Given the description of an element on the screen output the (x, y) to click on. 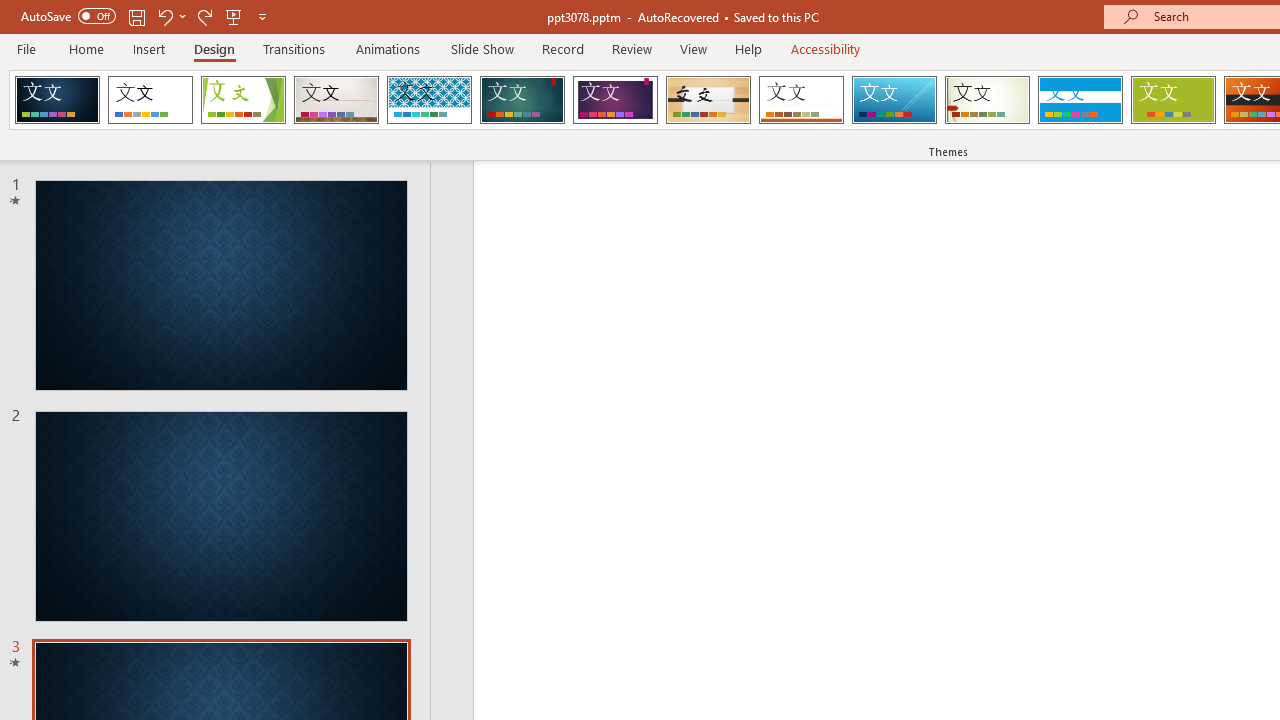
Ion (522, 100)
Frame (57, 100)
Retrospect (801, 100)
